Given the description of an element on the screen output the (x, y) to click on. 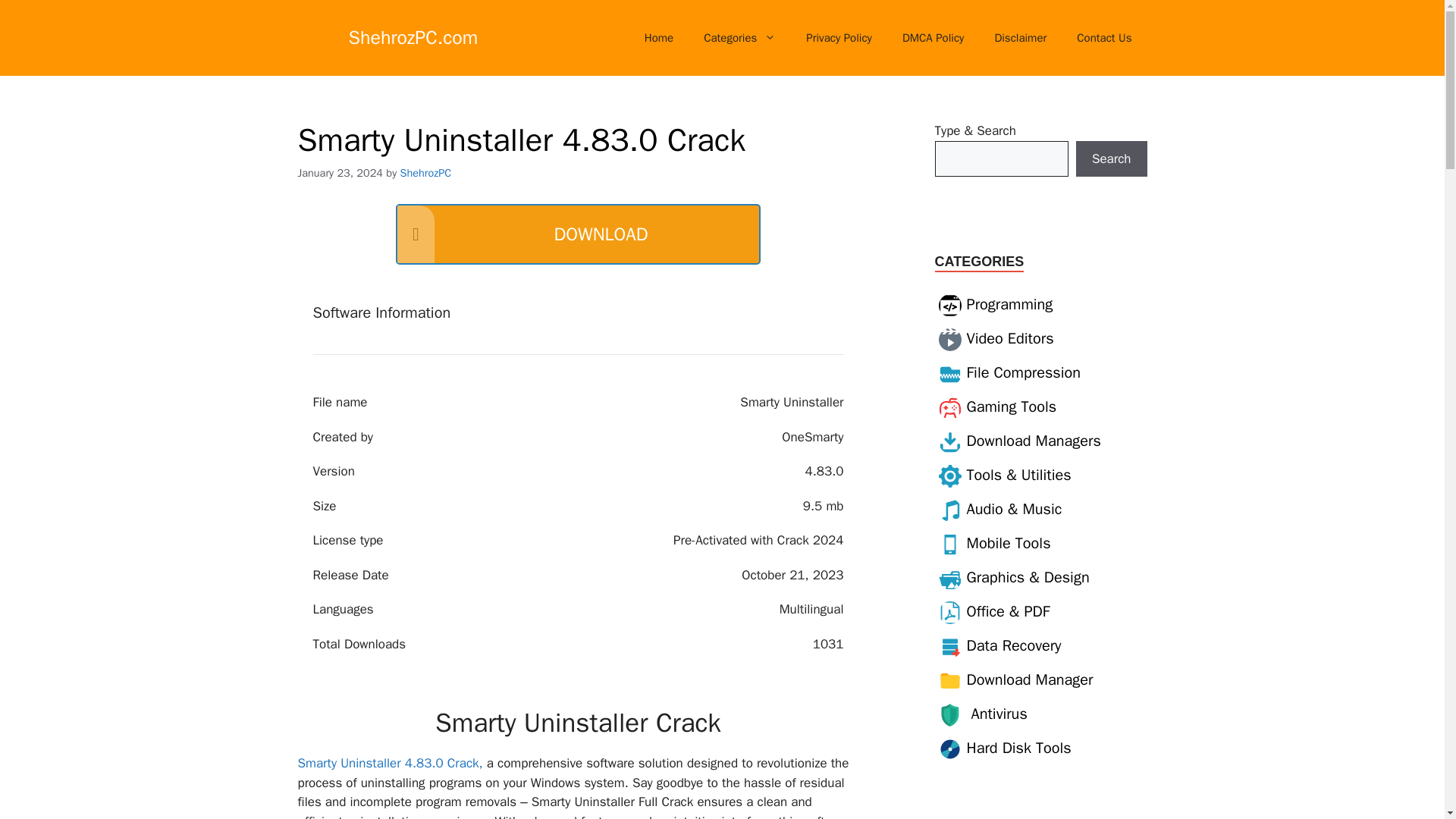
View all posts by ShehrozPC (425, 172)
ShehrozPC (425, 172)
Disclaimer (1019, 37)
Categories (739, 37)
Contact Us (1104, 37)
Smarty Uninstaller 4.83.0 Crack, (389, 763)
Privacy Policy (838, 37)
ShehrozPC.com (414, 37)
DMCA Policy (932, 37)
DOWNLOAD (578, 233)
